Given the description of an element on the screen output the (x, y) to click on. 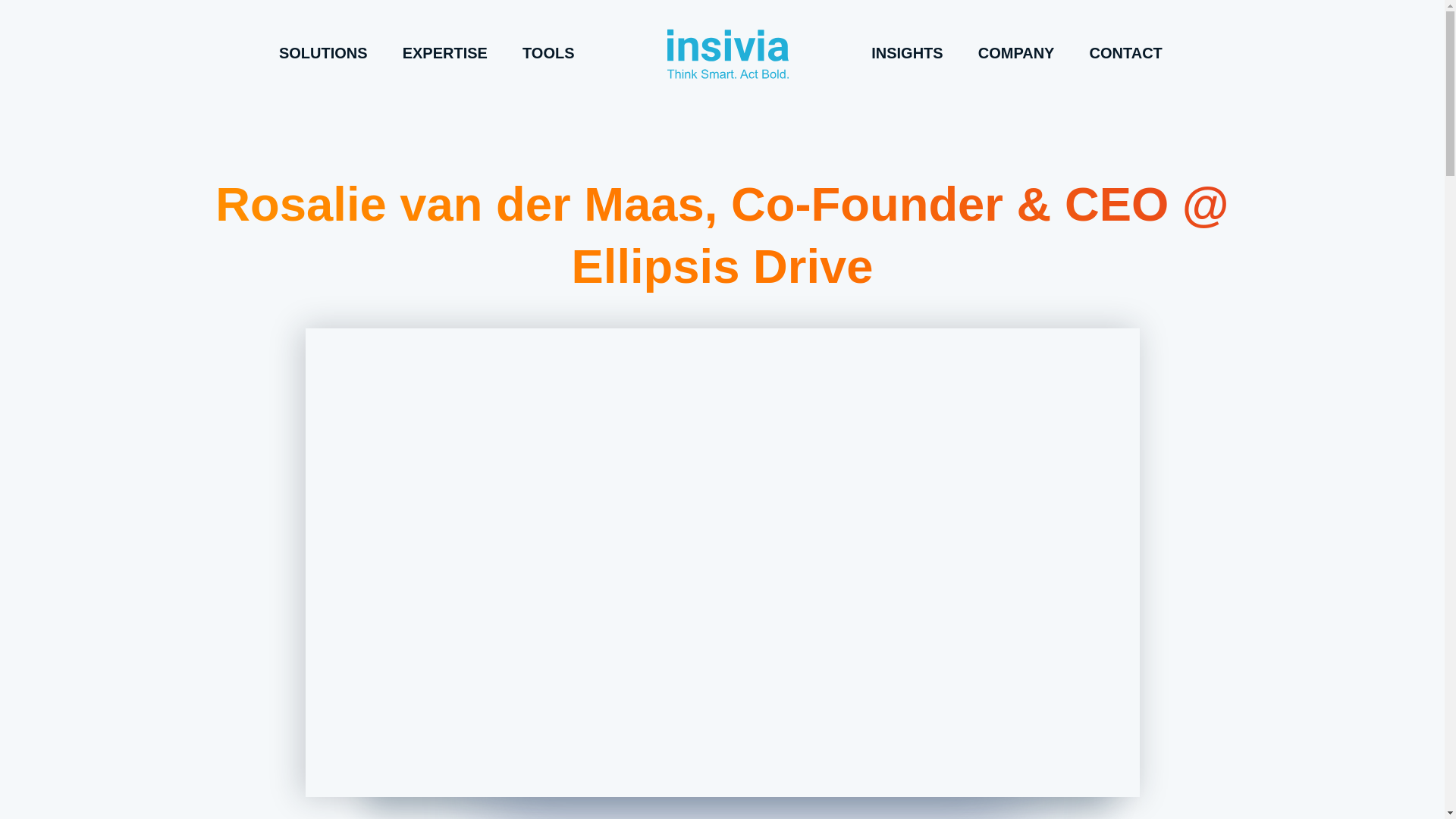
TOOLS (548, 52)
EXPERTISE (445, 52)
SOLUTIONS (323, 52)
INSIGHTS (906, 52)
